Given the description of an element on the screen output the (x, y) to click on. 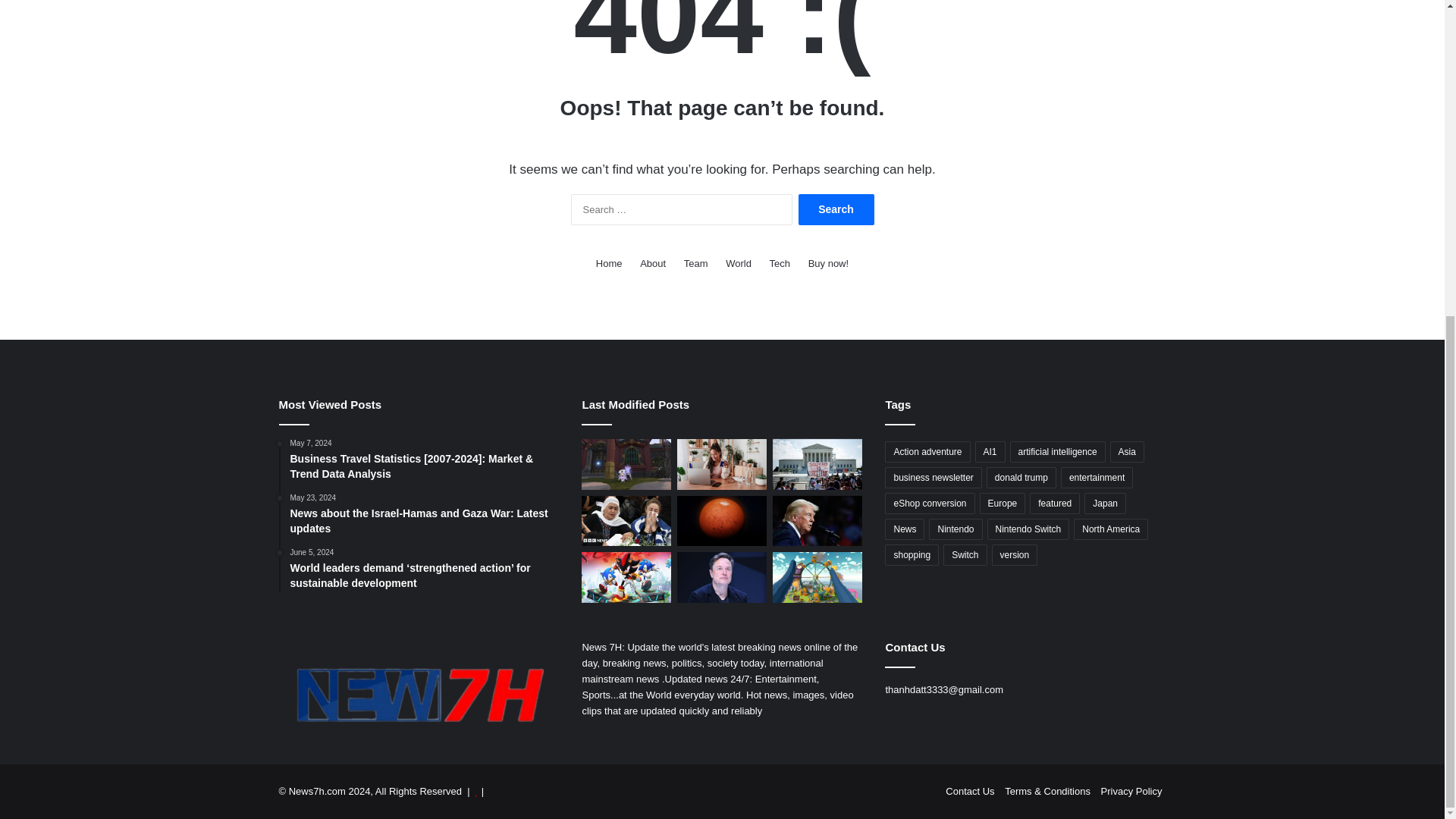
World (738, 263)
About (652, 263)
Search (835, 209)
Buy now! (828, 263)
donald trump (1022, 477)
Action adventure (927, 451)
entertainment (1096, 477)
Search (835, 209)
Buy now! (828, 263)
Tech (780, 263)
Home (609, 263)
Search (835, 209)
Team (695, 263)
business newsletter (933, 477)
